Given the description of an element on the screen output the (x, y) to click on. 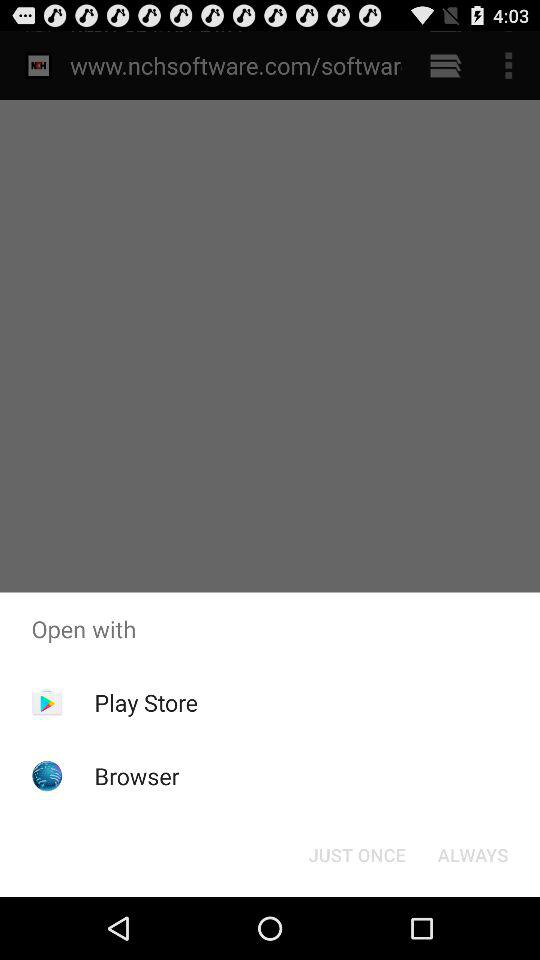
open the icon below open with app (146, 702)
